Given the description of an element on the screen output the (x, y) to click on. 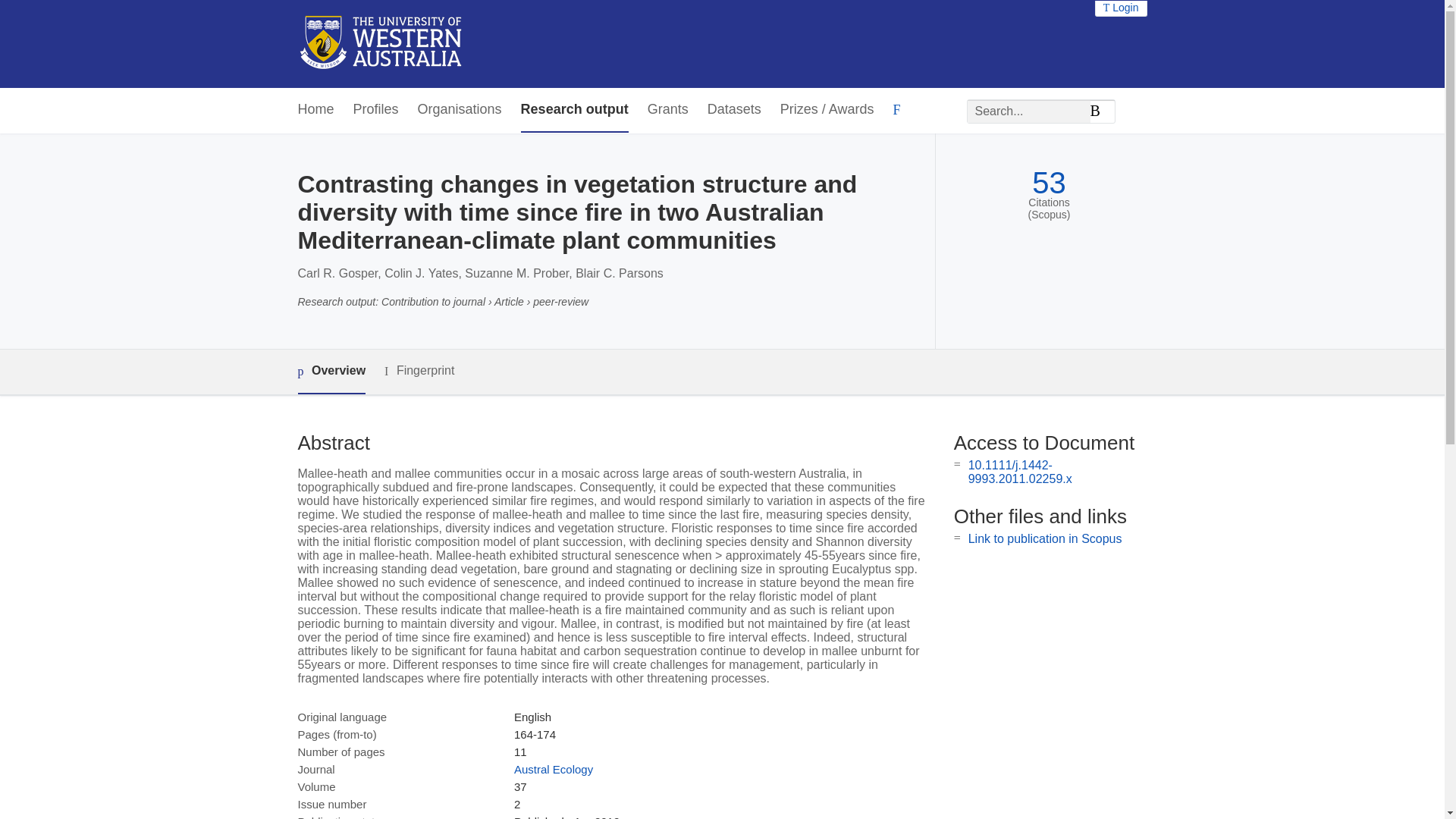
53 (1048, 182)
Profiles (375, 109)
Grants (667, 109)
Austral Ecology (552, 768)
Link to publication in Scopus (1045, 538)
Login (1121, 7)
Research output (574, 109)
Datasets (734, 109)
the UWA Profiles and Research Repository Home (380, 43)
Organisations (459, 109)
Overview (331, 371)
Fingerprint (419, 371)
